Given the description of an element on the screen output the (x, y) to click on. 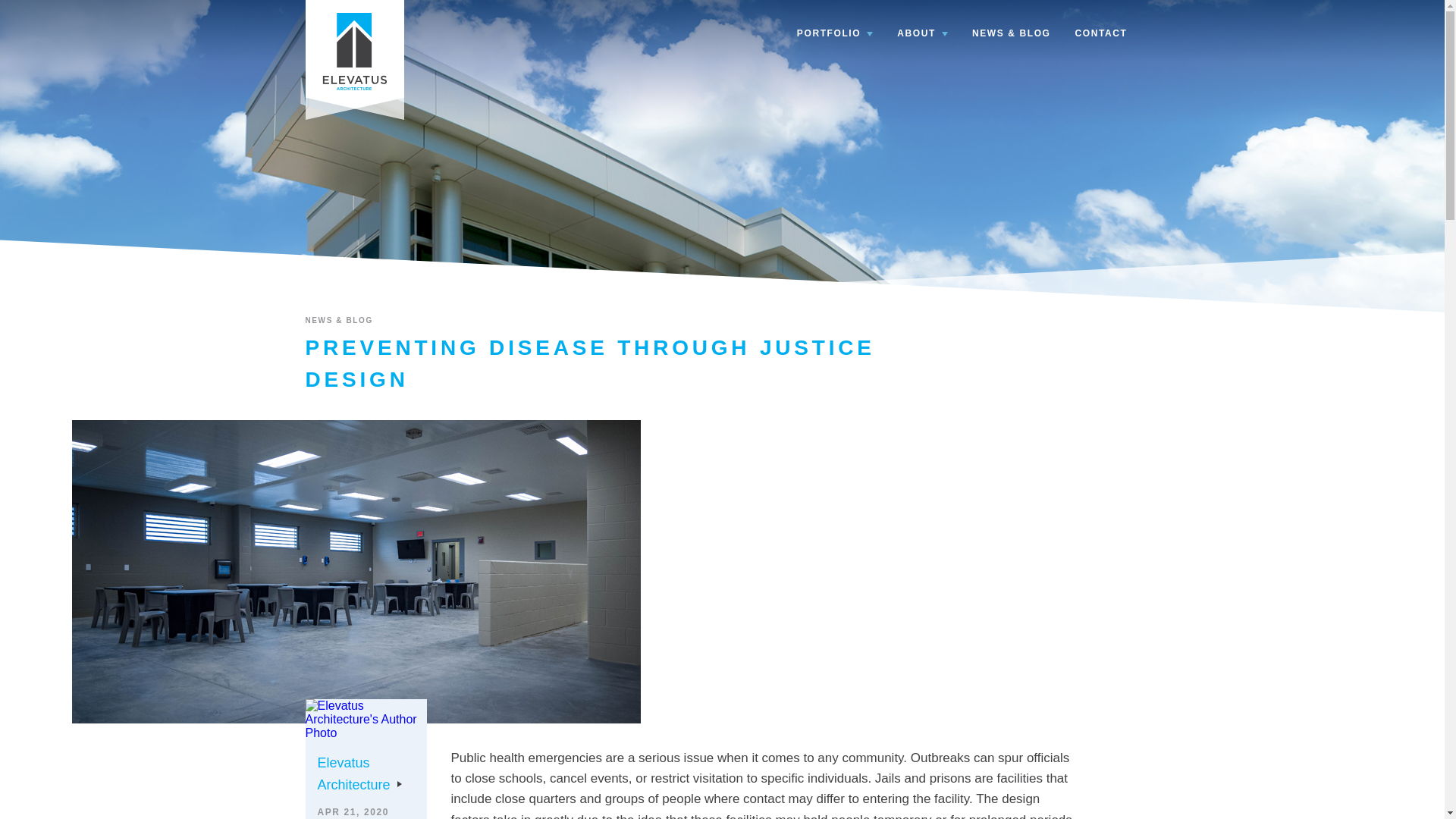
PORTFOLIO (834, 33)
CONTACT (1101, 33)
ABOUT (922, 33)
Posts by Elevatus Architecture (359, 773)
Elevatus Architecture (354, 51)
Elevatus Architecture (359, 773)
Elevatus Architecture (353, 48)
Elevatus Architecture (353, 48)
